Given the description of an element on the screen output the (x, y) to click on. 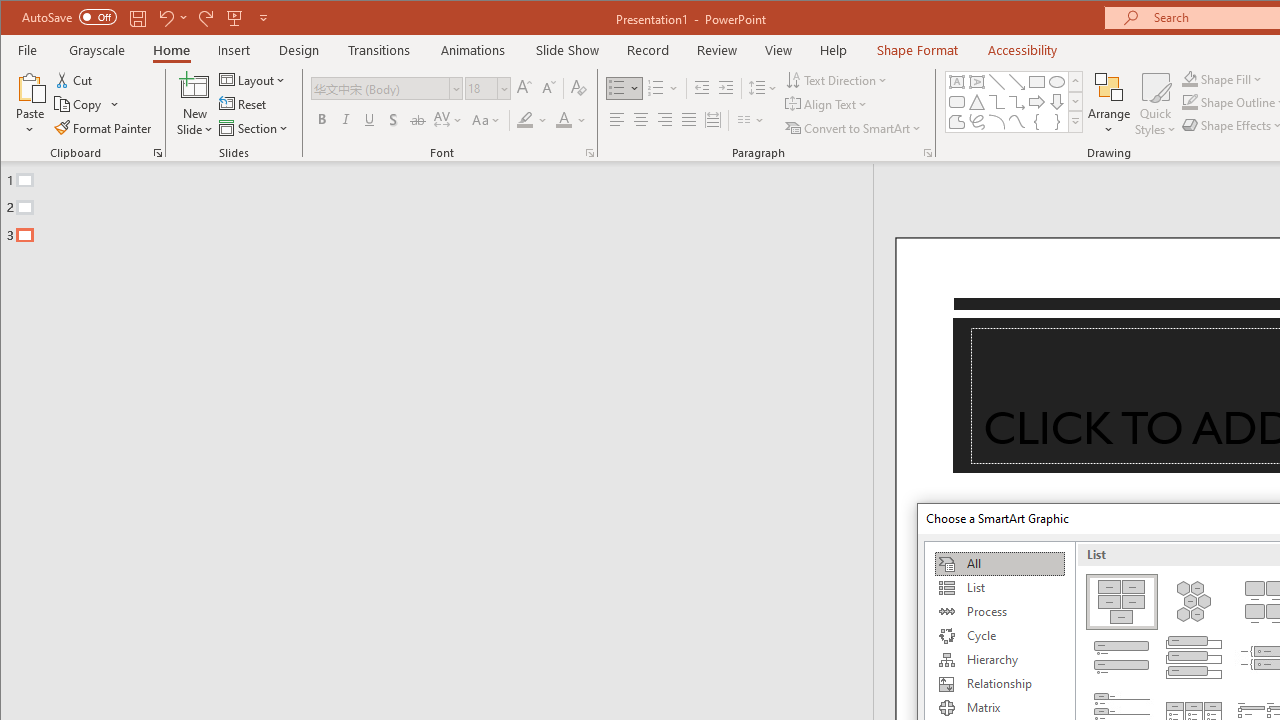
Increase Font Size (524, 88)
Distributed (712, 119)
Shape Fill Orange, Accent 2 (1189, 78)
Layout (253, 80)
Strikethrough (417, 119)
Font (387, 88)
Copy (79, 103)
Shadow (393, 119)
Arrow: Right (1036, 102)
Freeform: Shape (956, 121)
Decrease Font Size (548, 88)
Alternating Hexagons (1194, 601)
